Given the description of an element on the screen output the (x, y) to click on. 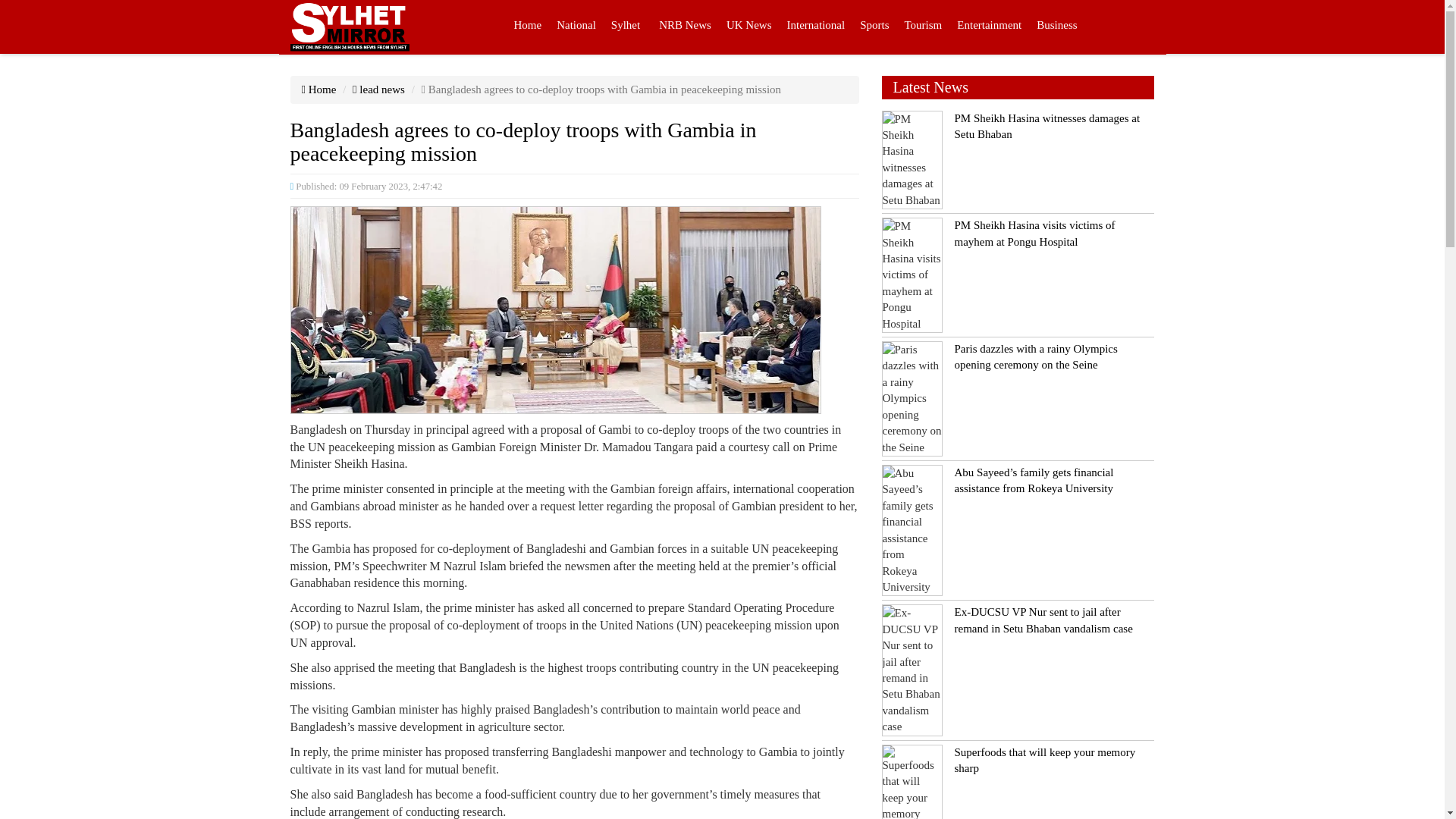
Tourism (922, 26)
Sports (873, 26)
Sylhet (625, 26)
Business (1056, 26)
NRB News (684, 26)
logo (349, 27)
Home (528, 26)
UK News (748, 26)
Entertainment (989, 26)
International (815, 26)
National (576, 26)
